Given the description of an element on the screen output the (x, y) to click on. 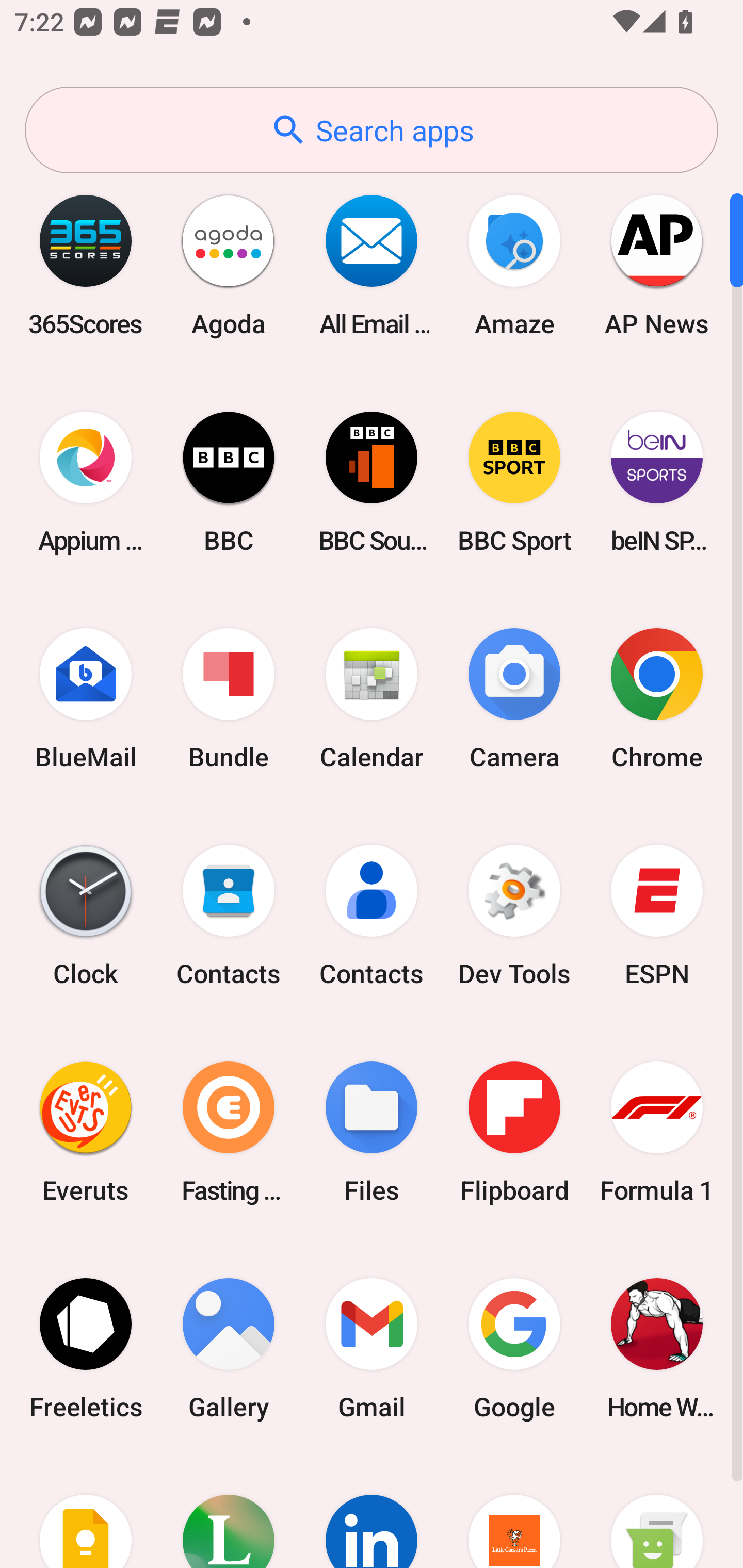
  Search apps (371, 130)
365Scores (85, 264)
Agoda (228, 264)
All Email Connect (371, 264)
Amaze (514, 264)
AP News (656, 264)
Appium Settings (85, 482)
BBC (228, 482)
BBC Sounds (371, 482)
BBC Sport (514, 482)
beIN SPORTS (656, 482)
BlueMail (85, 699)
Bundle (228, 699)
Calendar (371, 699)
Camera (514, 699)
Chrome (656, 699)
Clock (85, 915)
Contacts (228, 915)
Contacts (371, 915)
Dev Tools (514, 915)
ESPN (656, 915)
Everuts (85, 1131)
Fasting Coach (228, 1131)
Files (371, 1131)
Flipboard (514, 1131)
Formula 1 (656, 1131)
Freeletics (85, 1348)
Gallery (228, 1348)
Gmail (371, 1348)
Google (514, 1348)
Home Workout (656, 1348)
Keep Notes (85, 1512)
Lifesum (228, 1512)
LinkedIn (371, 1512)
Little Caesars Pizza (514, 1512)
Messaging (656, 1512)
